Given the description of an element on the screen output the (x, y) to click on. 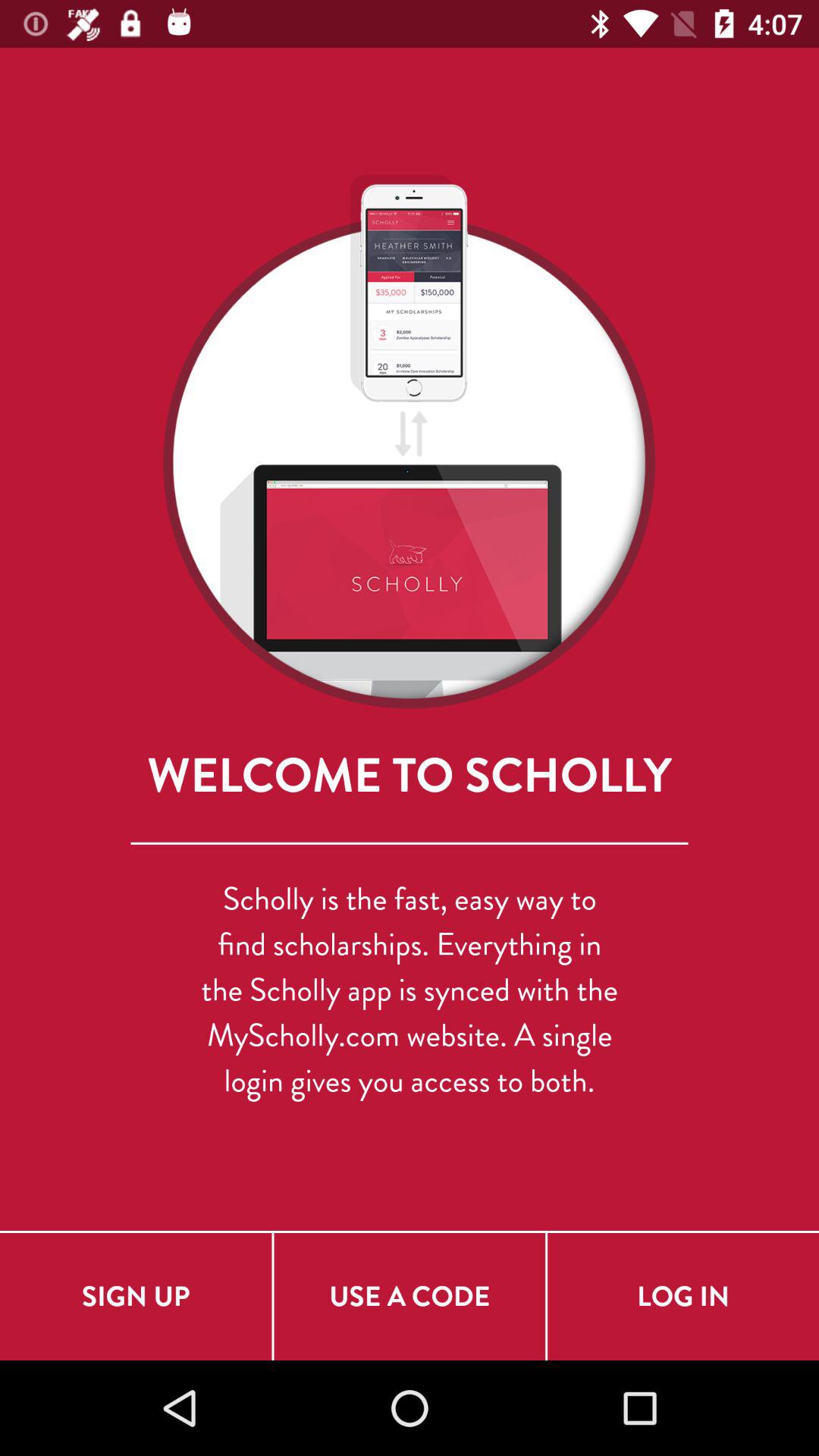
turn on use a code (409, 1296)
